Given the description of an element on the screen output the (x, y) to click on. 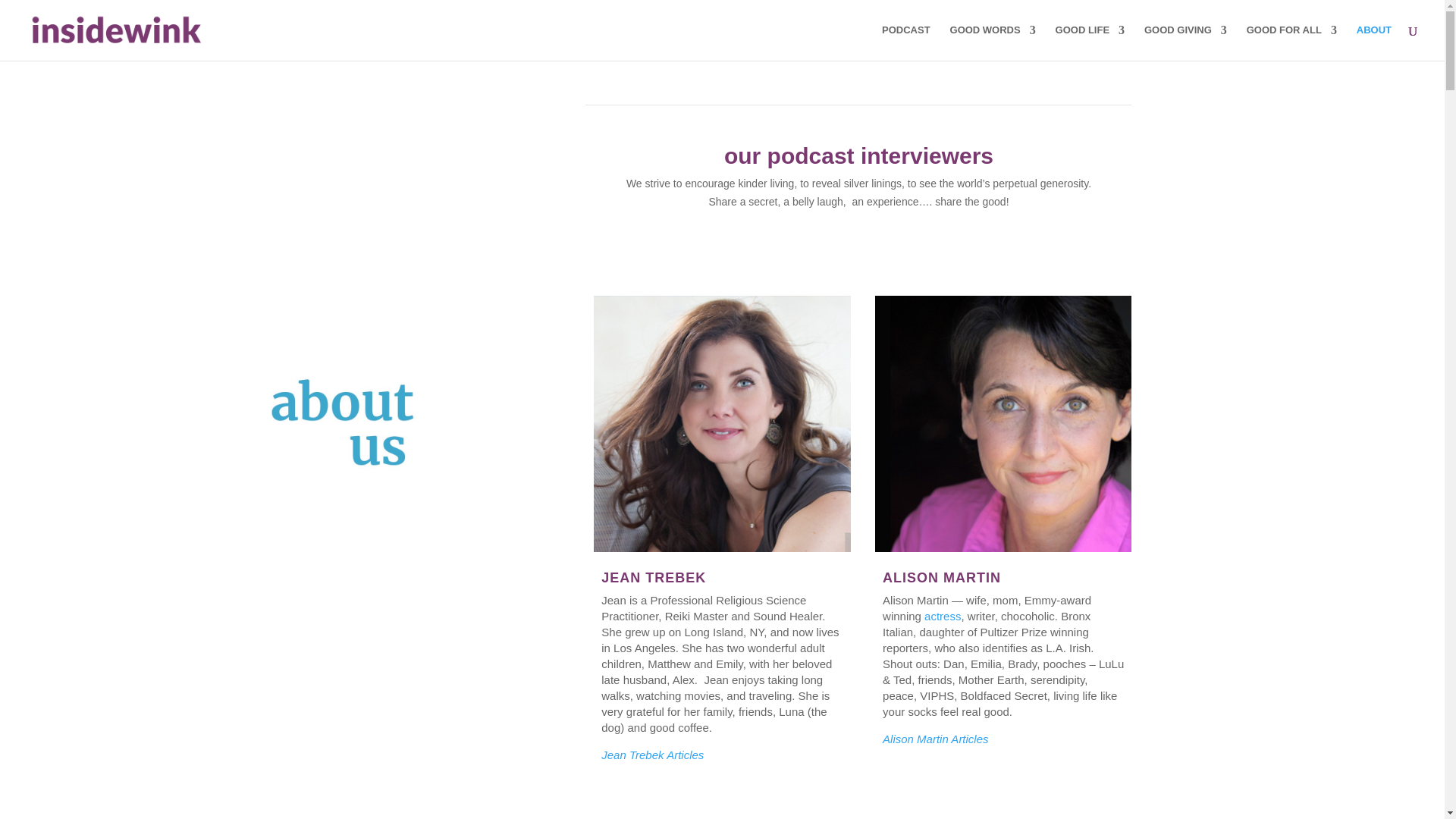
GOOD LIFE (1090, 42)
GOOD WORDS (992, 42)
GOOD FOR ALL (1291, 42)
ABOUT (1373, 42)
GOOD GIVING (1185, 42)
PODCAST (906, 42)
